Given the description of an element on the screen output the (x, y) to click on. 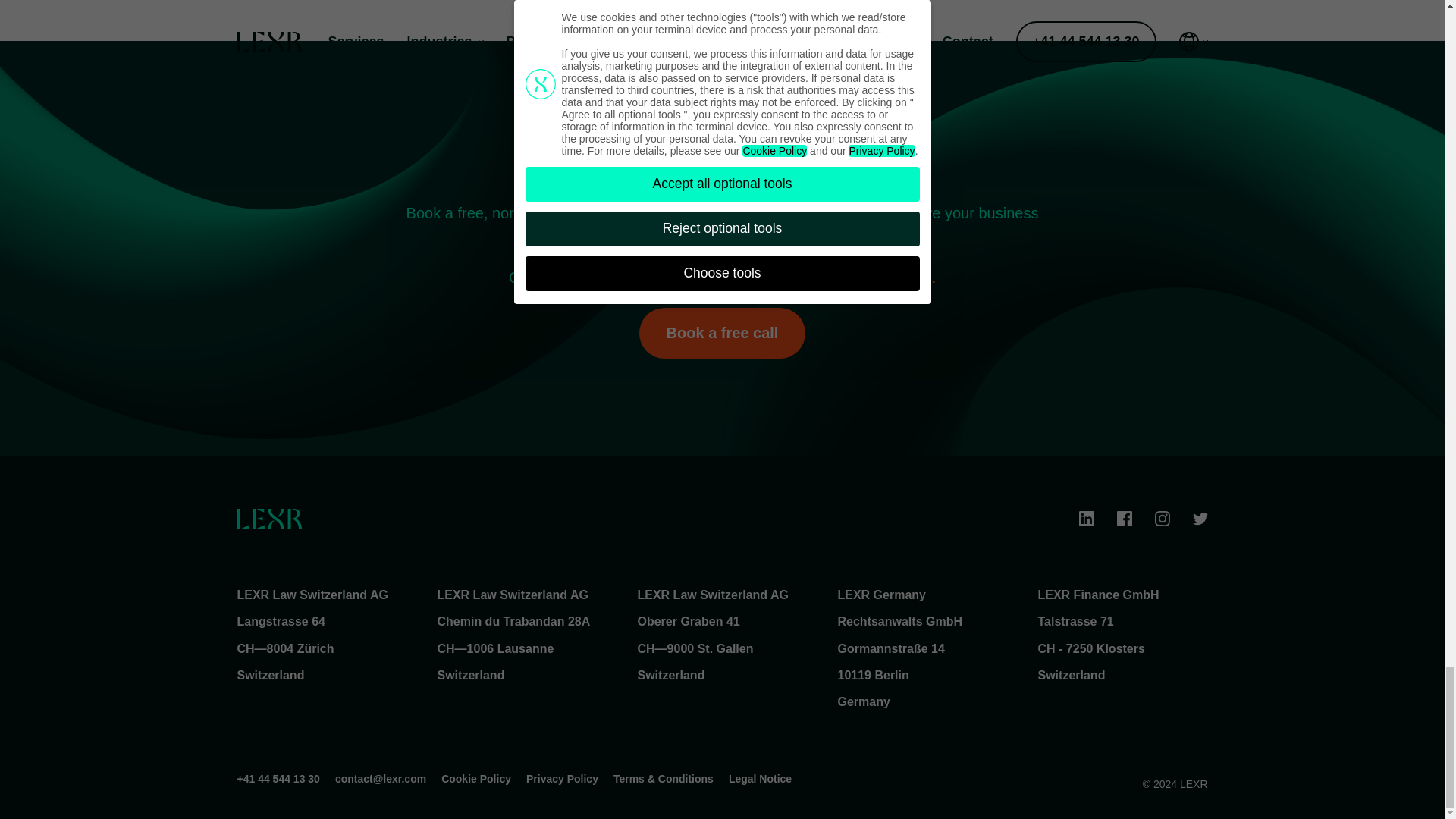
Privacy Policy (561, 778)
Cookie Policy (476, 778)
Book a free call (722, 332)
